Given the description of an element on the screen output the (x, y) to click on. 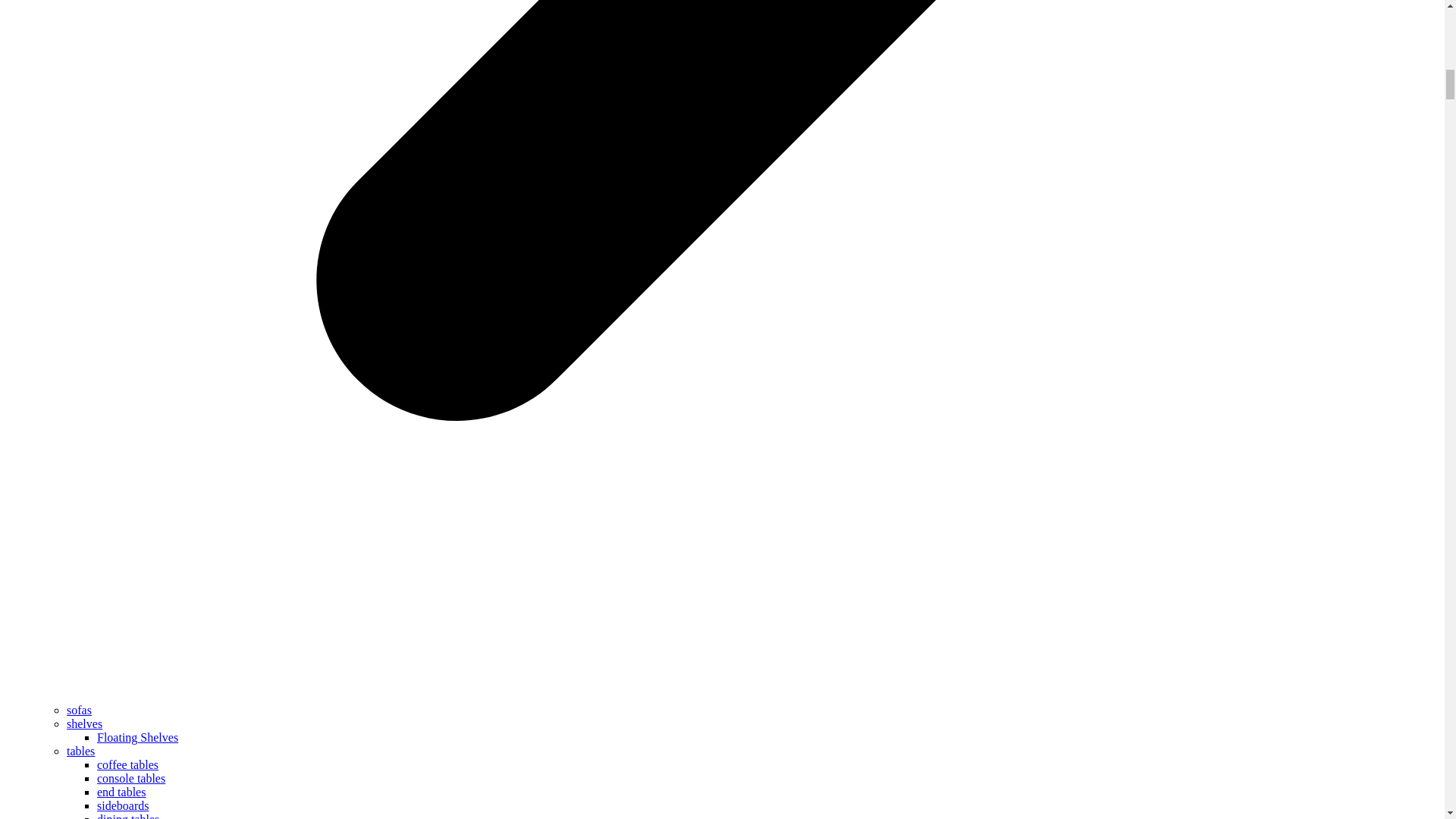
Floating Shelves (137, 737)
shelves (83, 723)
dining tables (127, 816)
console tables (131, 778)
sofas (78, 709)
tables (80, 750)
coffee tables (127, 764)
end tables (121, 791)
sideboards (122, 805)
